Given the description of an element on the screen output the (x, y) to click on. 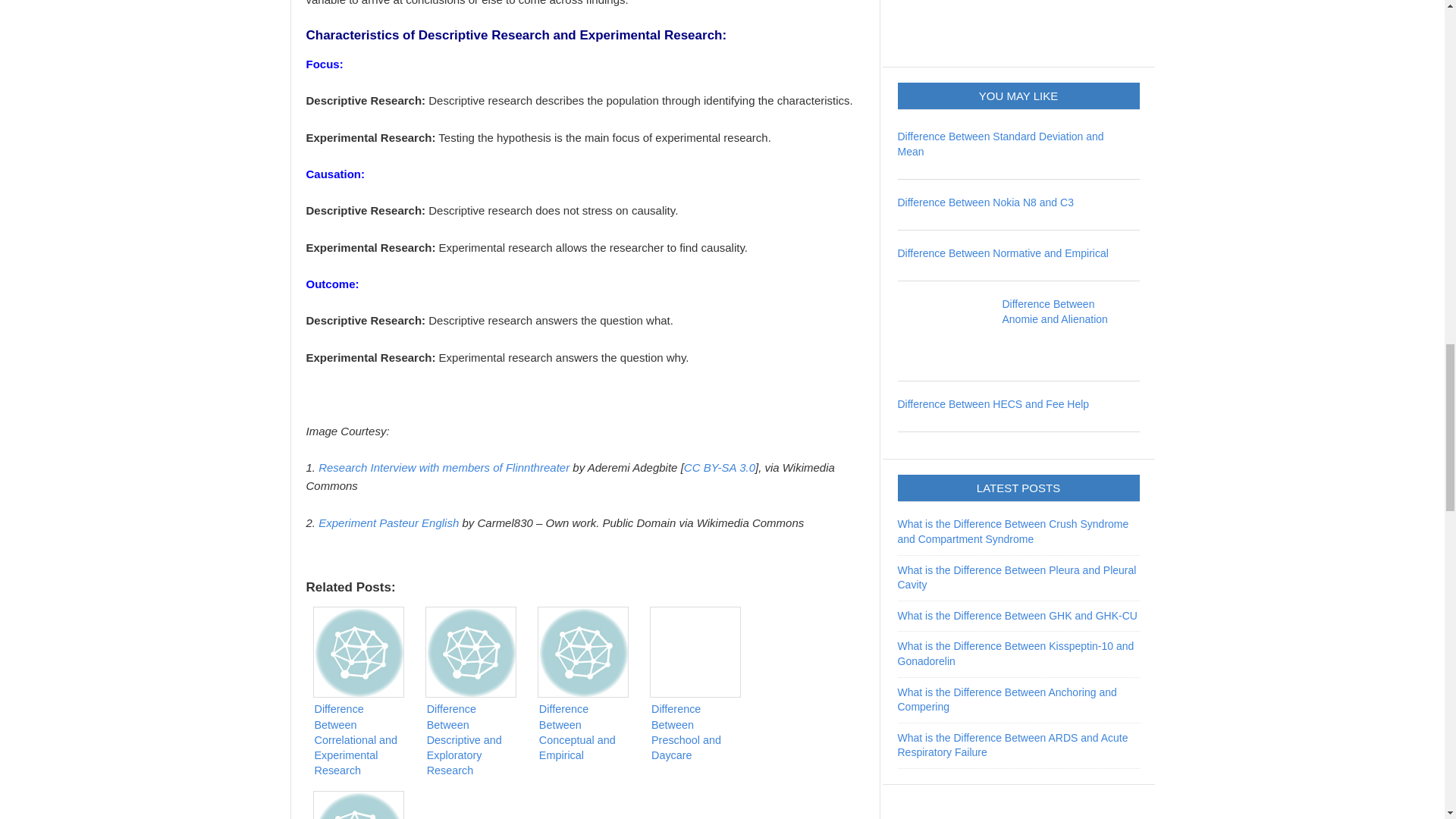
Experiment Pasteur English (388, 522)
CC BY-SA 3.0 (719, 467)
Research Interview with members of Flinnthreater (443, 467)
Difference Between Summary and Synopsis (361, 803)
